Given the description of an element on the screen output the (x, y) to click on. 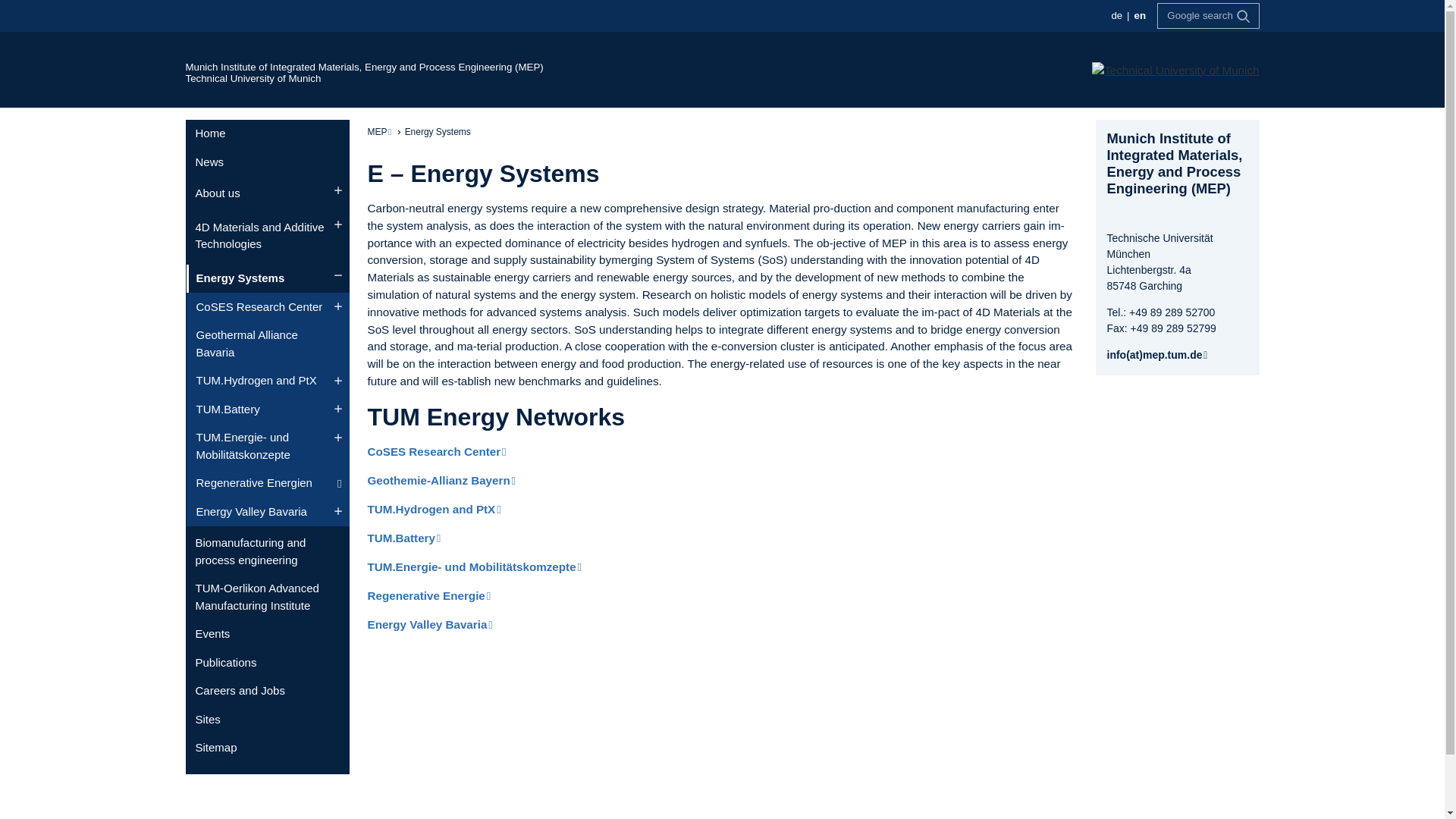
News (266, 162)
4D Materials and Additive Technologies (266, 235)
de (1117, 15)
4D Materials and Additive Technologies (266, 235)
Deutsch (1116, 15)
About us (266, 193)
Home (266, 133)
CoSES Research Center (267, 306)
About us (266, 193)
Home Technical University of Munich (252, 78)
